Given the description of an element on the screen output the (x, y) to click on. 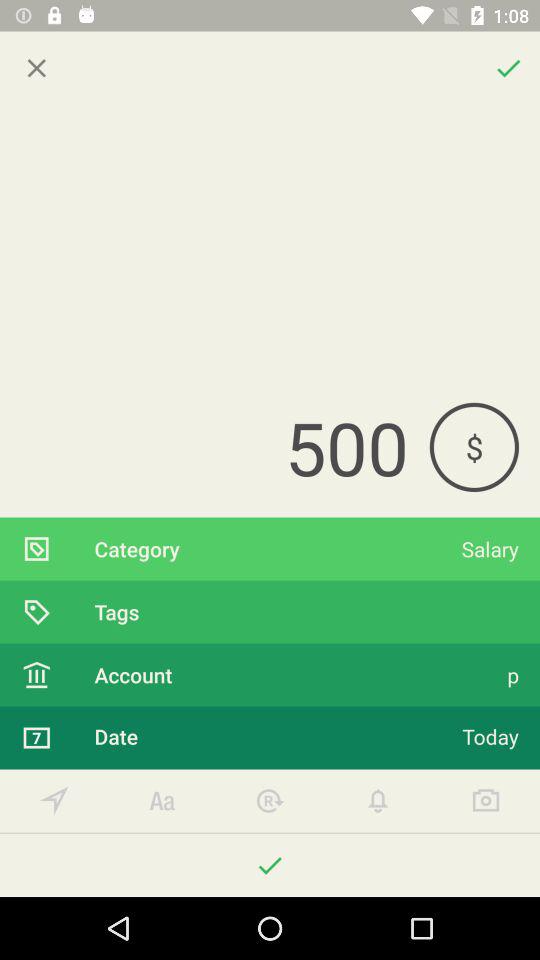
refresh content (270, 800)
